Given the description of an element on the screen output the (x, y) to click on. 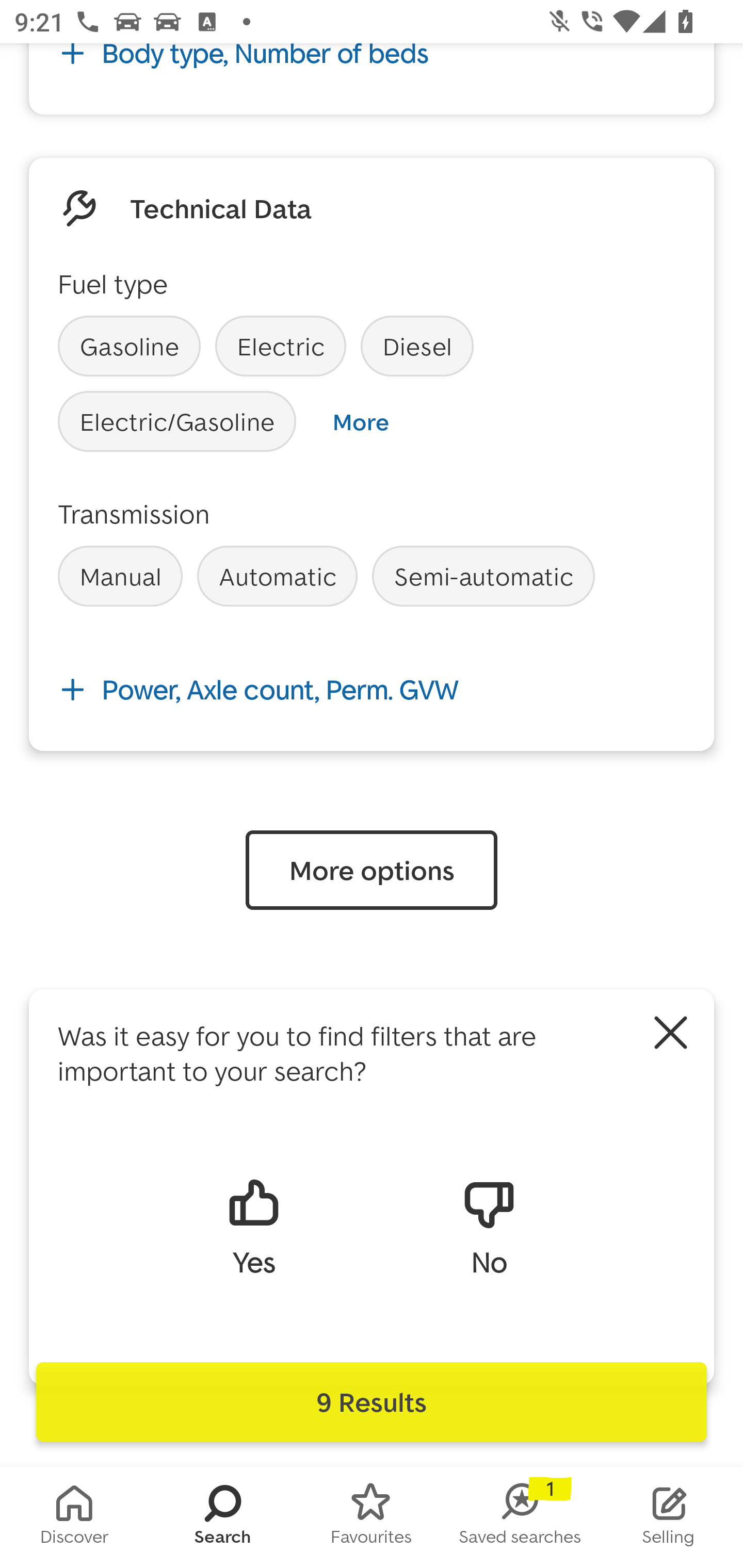
Technical Data (221, 208)
Fuel type (112, 283)
Gasoline (128, 345)
Electric (280, 345)
Diesel (417, 345)
Electric/Gasoline (176, 420)
More (360, 421)
Transmission (133, 513)
Manual (119, 575)
Automatic (276, 575)
Semi-automatic (483, 575)
Power, Axle count, Perm. GVW (371, 689)
More options (371, 870)
Yes (253, 1225)
No (489, 1225)
9 Results (371, 1401)
HOMESCREEN Discover (74, 1517)
SEARCH Search (222, 1517)
FAVORITES Favourites (371, 1517)
SAVED_SEARCHES Saved searches 1 (519, 1517)
STOCK_LIST Selling (668, 1517)
